Given the description of an element on the screen output the (x, y) to click on. 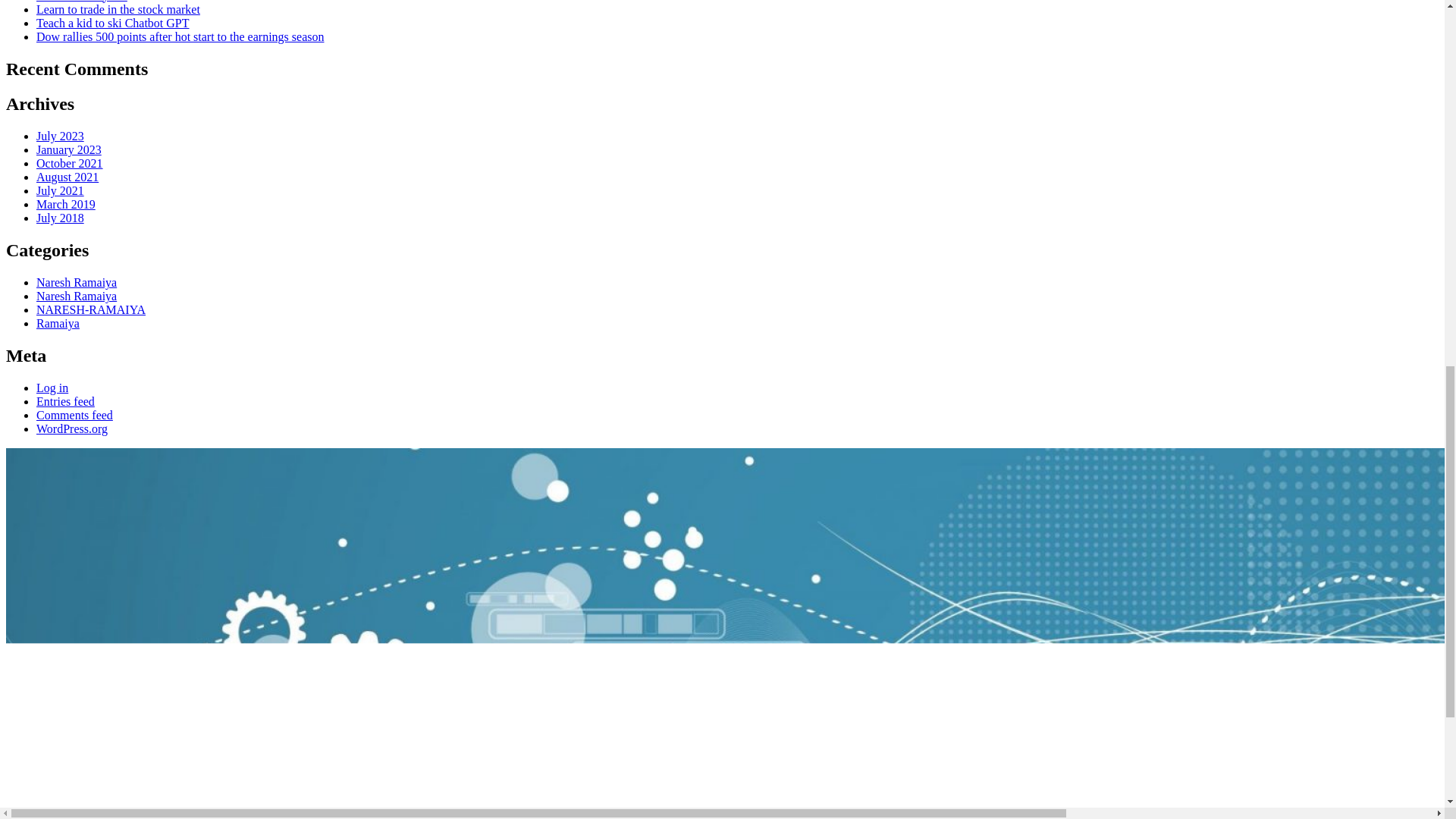
August 2021 (67, 176)
July 2021 (60, 190)
July 2018 (60, 217)
Naresh Ramaiya (76, 282)
Learn to trade in the stock market (118, 9)
WordPress.org (71, 428)
Teach a kid to ski Chatbot GPT (112, 22)
March 2019 (66, 204)
Log in (52, 387)
